Given the description of an element on the screen output the (x, y) to click on. 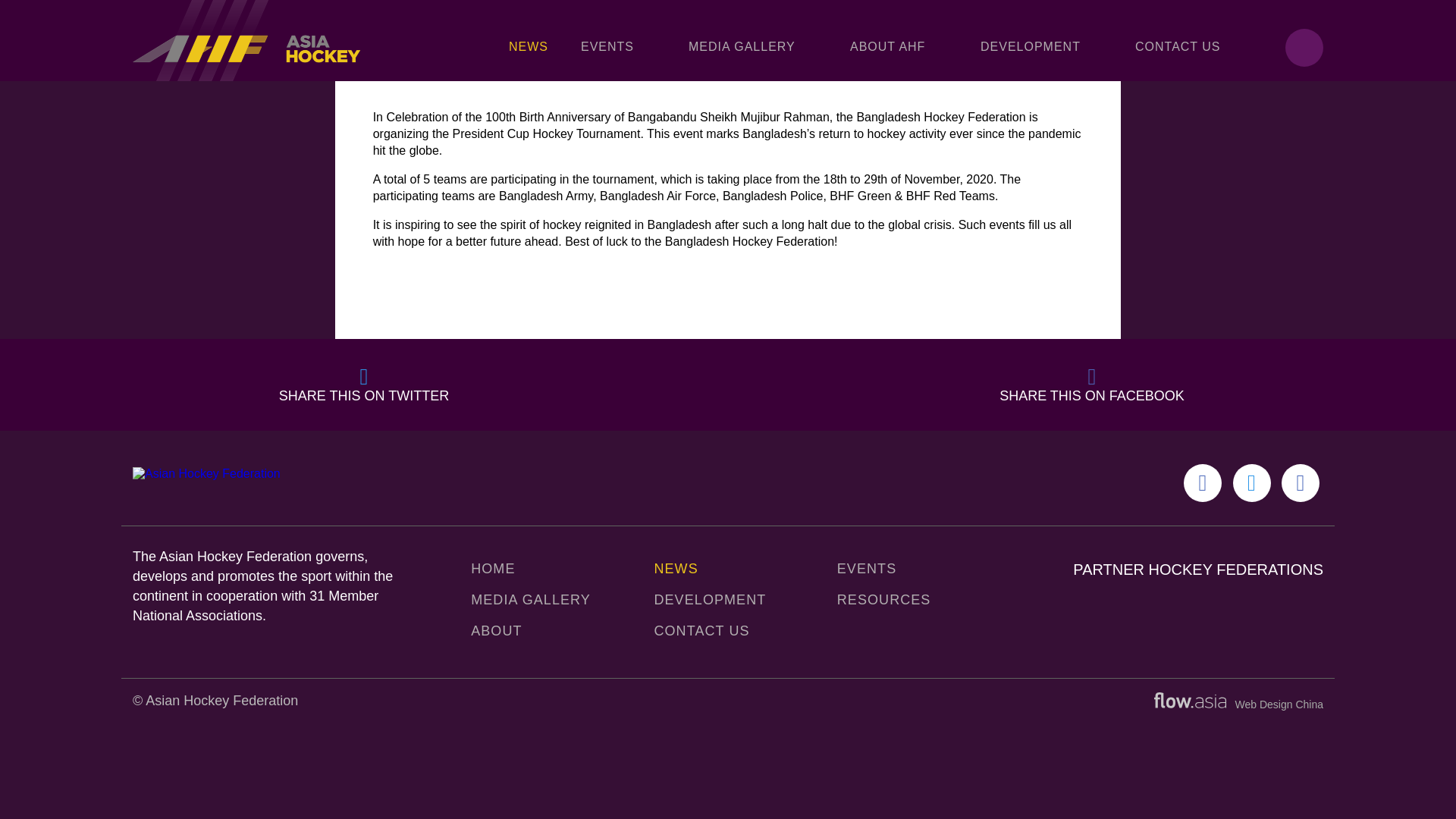
ABOUT AHF (898, 40)
EVENTS (618, 40)
CONTACT US (1177, 40)
MEDIA GALLERY (753, 40)
Layer 1 (1189, 700)
DEVELOPMENT (1042, 40)
